Given the description of an element on the screen output the (x, y) to click on. 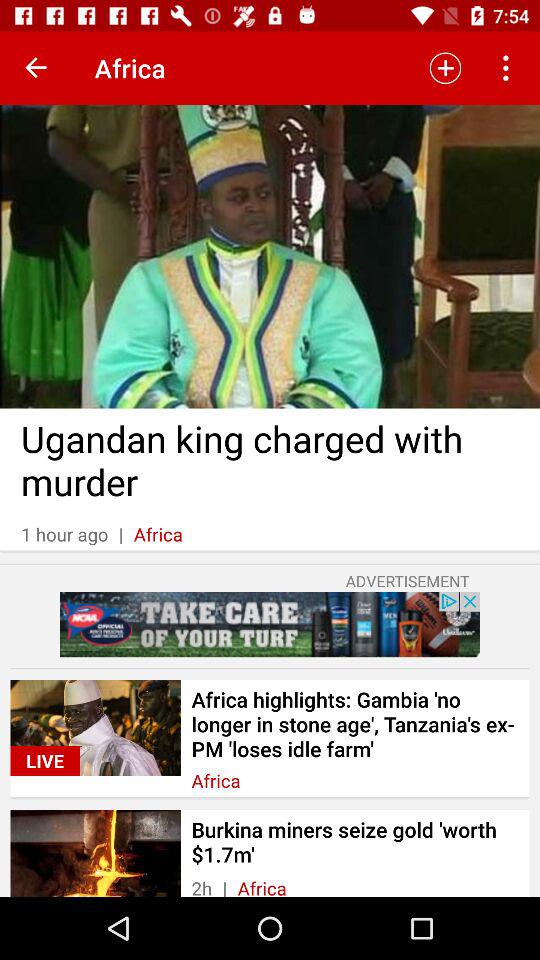
adverdisment button (270, 624)
